Given the description of an element on the screen output the (x, y) to click on. 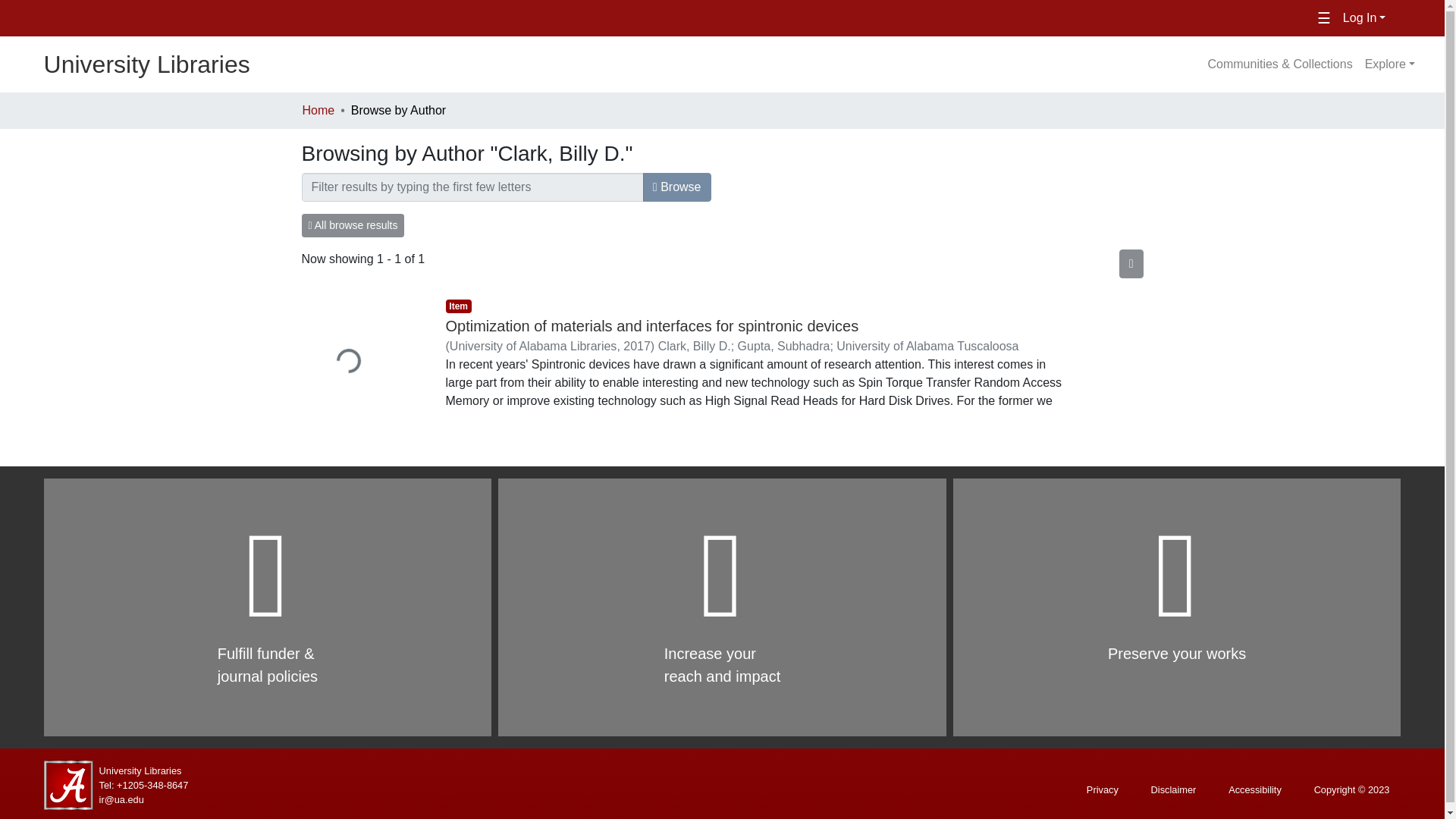
Privacy (1102, 790)
Home (317, 110)
Log In (1364, 17)
Disclaimer (1174, 790)
All browse results (352, 225)
University Libraries (140, 770)
Copyright (1351, 790)
Browse (677, 186)
Accessibility (1254, 790)
Accessibility (1254, 790)
Loading... (362, 363)
Disclaimer (1174, 790)
The University of Alabama (254, 18)
Privacy (1102, 790)
